Given the description of an element on the screen output the (x, y) to click on. 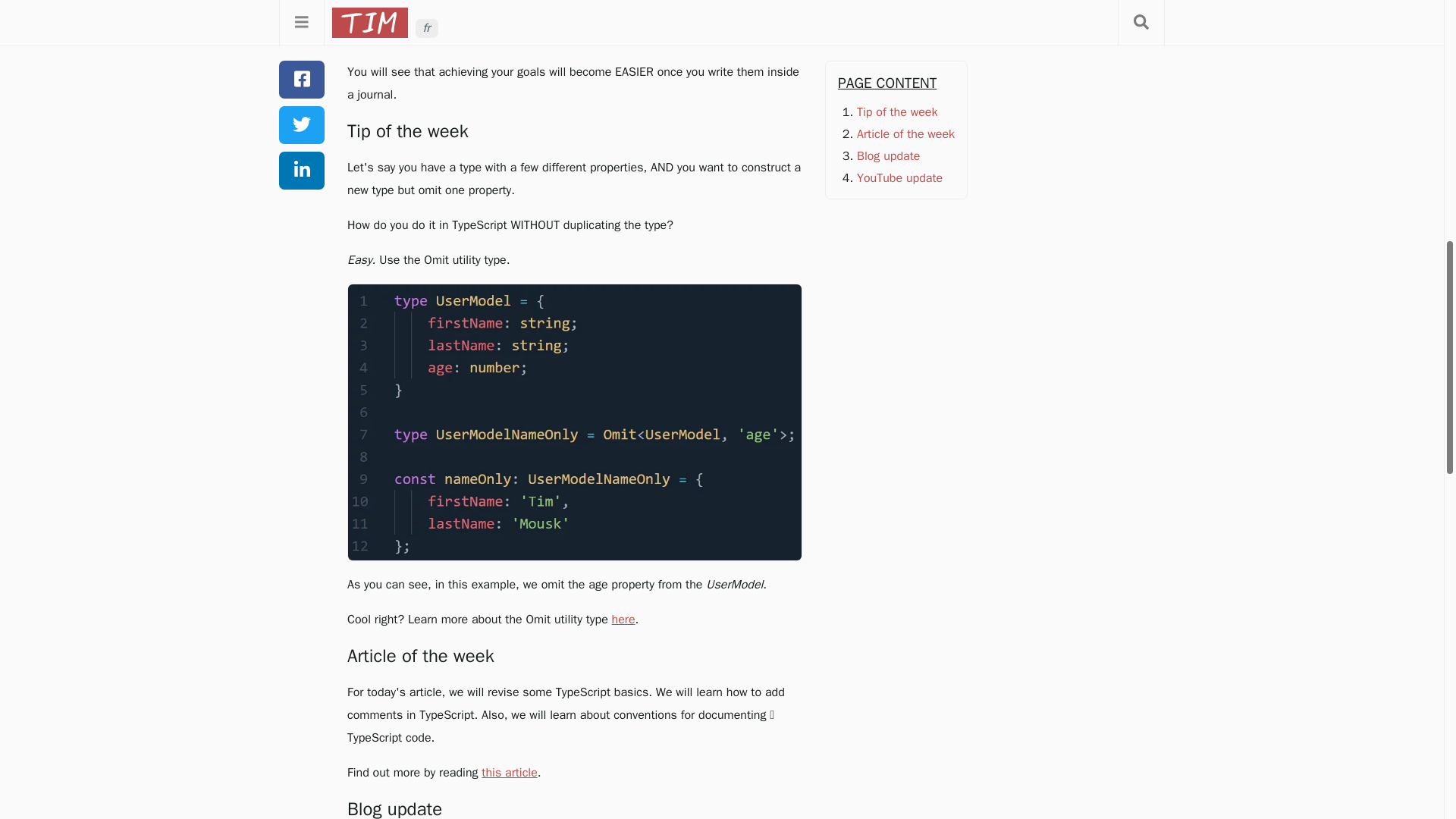
here (622, 619)
typescript omit (574, 422)
this article (509, 772)
